Given the description of an element on the screen output the (x, y) to click on. 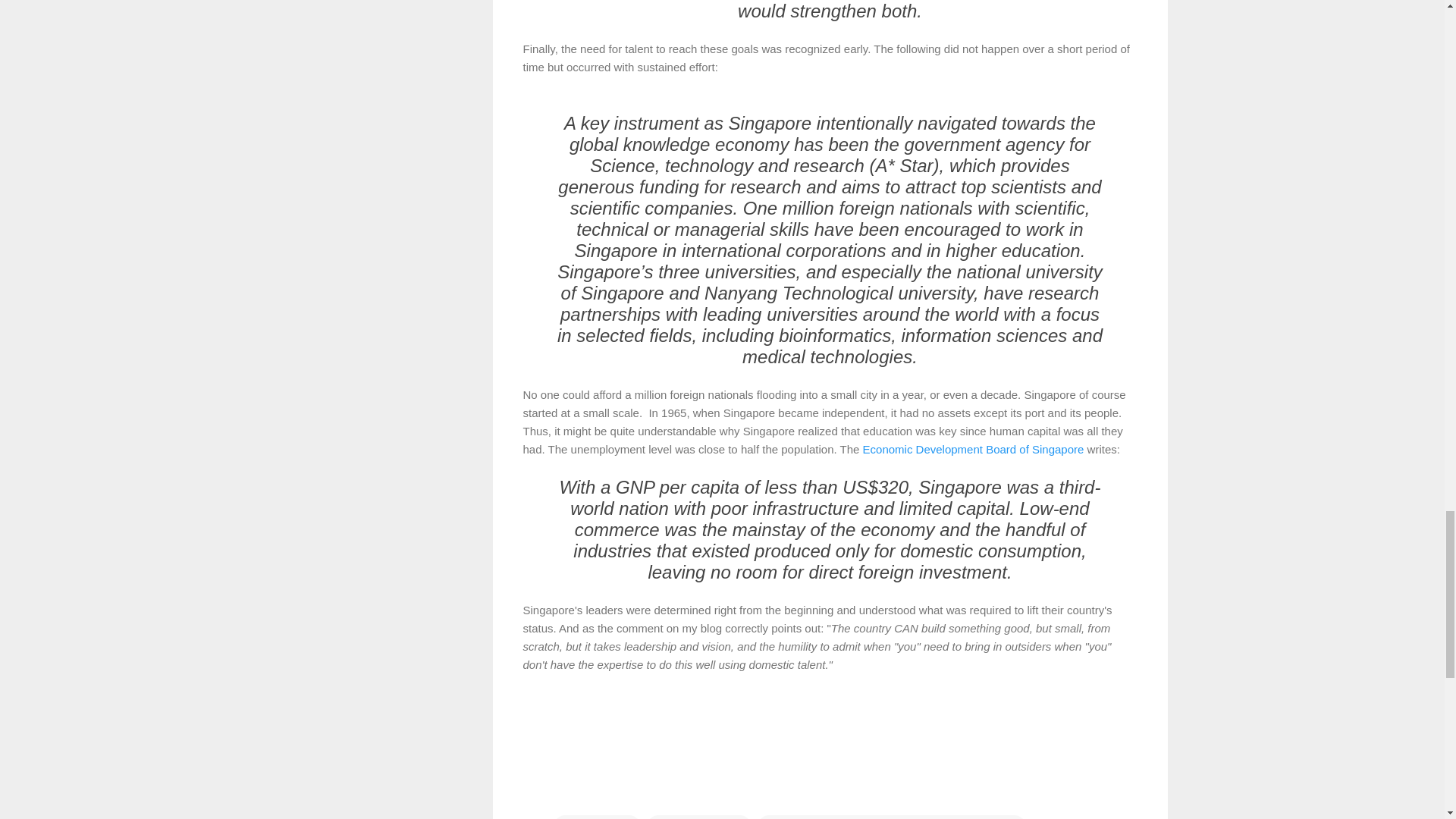
Economic Development Board of Singapore (973, 449)
Suggestions to Solve Problems in Basic Education (891, 816)
Commentaries (597, 816)
Education Reform (698, 816)
